Given the description of an element on the screen output the (x, y) to click on. 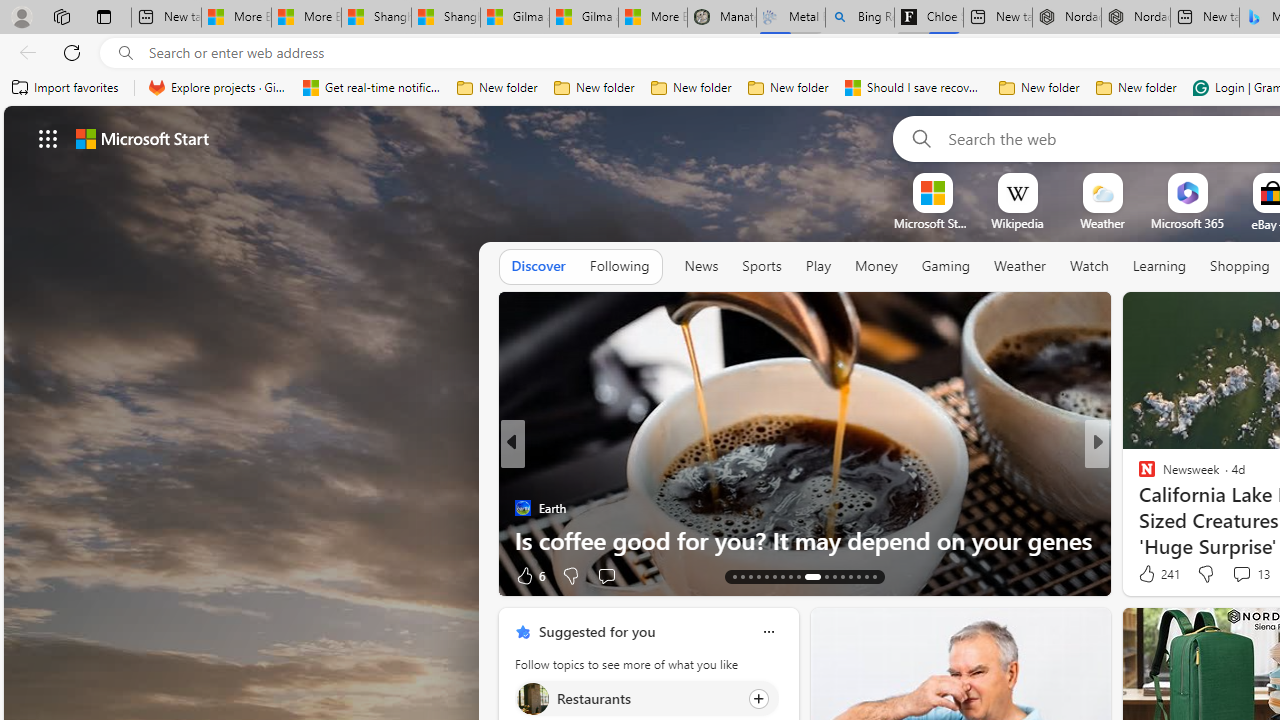
View comments 49 Comment (11, 575)
227 Like (1151, 574)
16 Like (1149, 574)
Personal Profile (21, 16)
Manatee Mortality Statistics | FWC (721, 17)
View comments 18 Comment (1234, 575)
Search icon (125, 53)
Import favorites (65, 88)
Gaming (945, 265)
Learning (1159, 265)
Craft Your Happy Place (1138, 507)
Suggested for you (596, 631)
CBS News (Video) (1138, 475)
Learning (1159, 267)
